Given the description of an element on the screen output the (x, y) to click on. 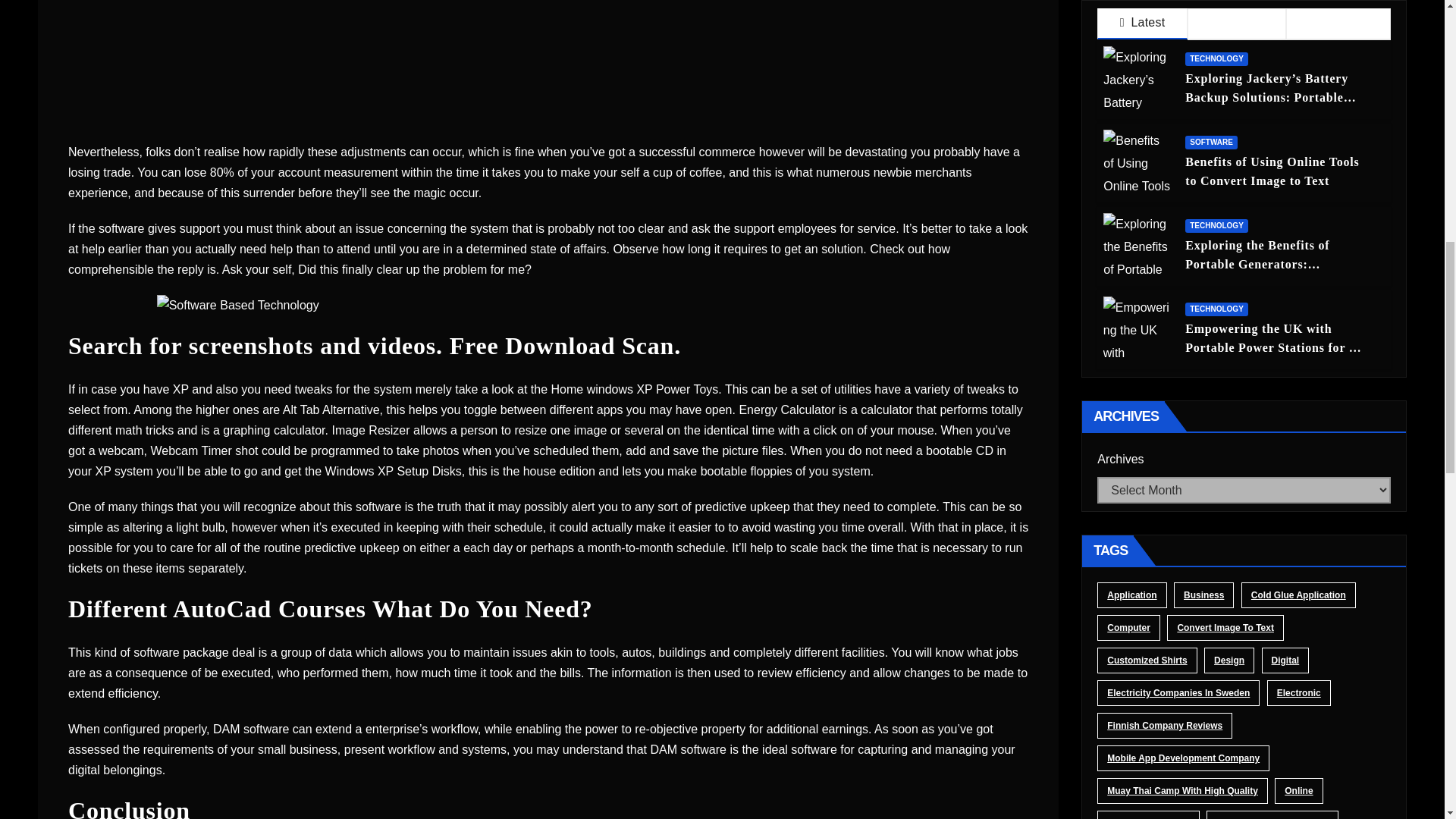
Dirty Details About New Software Technology Unveiled (548, 304)
Dirty Details About New Software Technology Unveiled (547, 63)
